Given the description of an element on the screen output the (x, y) to click on. 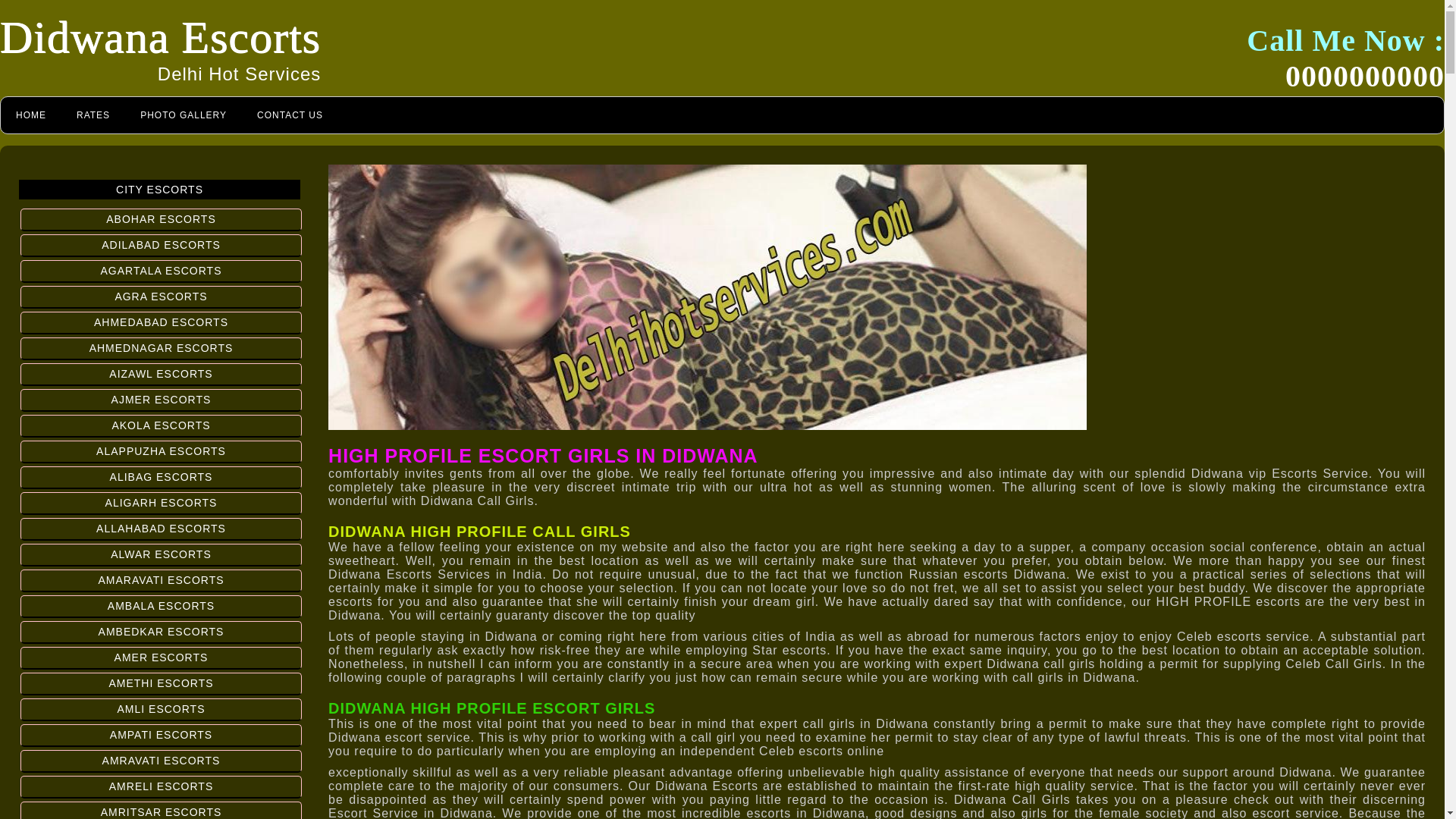
PHOTO GALLERY (183, 115)
HOME (31, 115)
Delhi Hot Services (238, 73)
RATES (93, 115)
CONTACT US (289, 115)
